Given the description of an element on the screen output the (x, y) to click on. 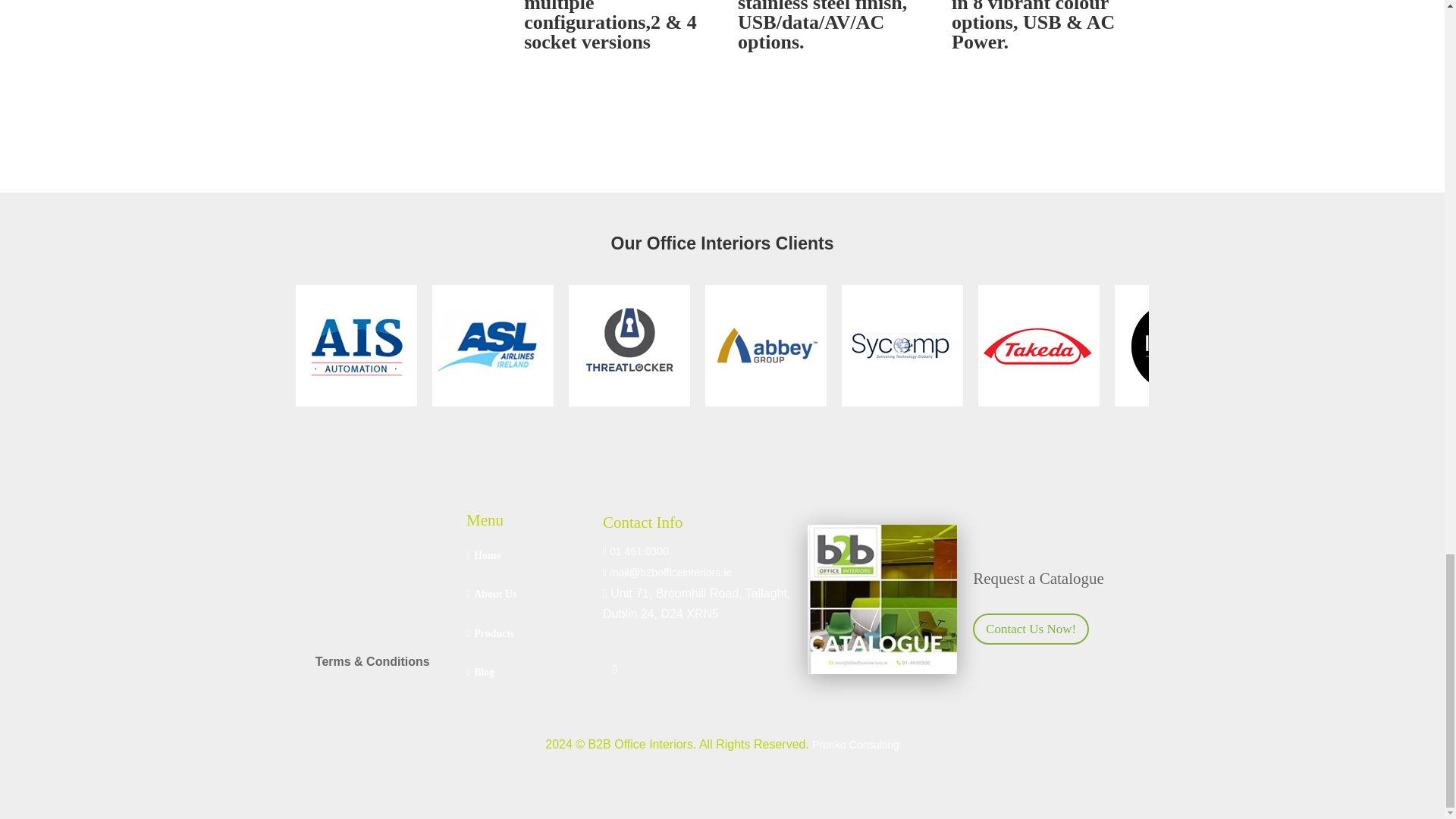
Follow on LinkedIn (614, 669)
